Given the description of an element on the screen output the (x, y) to click on. 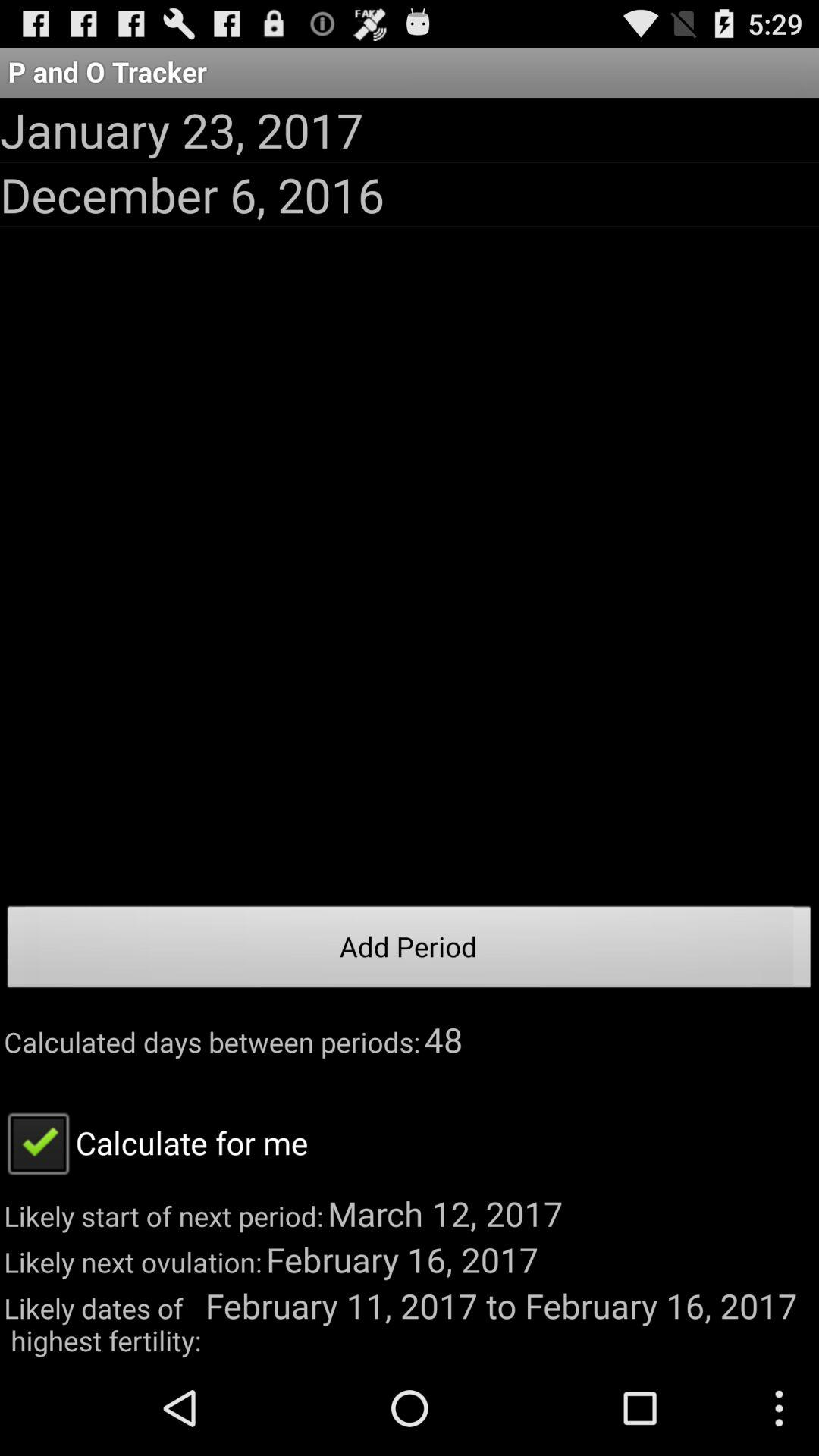
open app below january 23, 2017 app (192, 194)
